Given the description of an element on the screen output the (x, y) to click on. 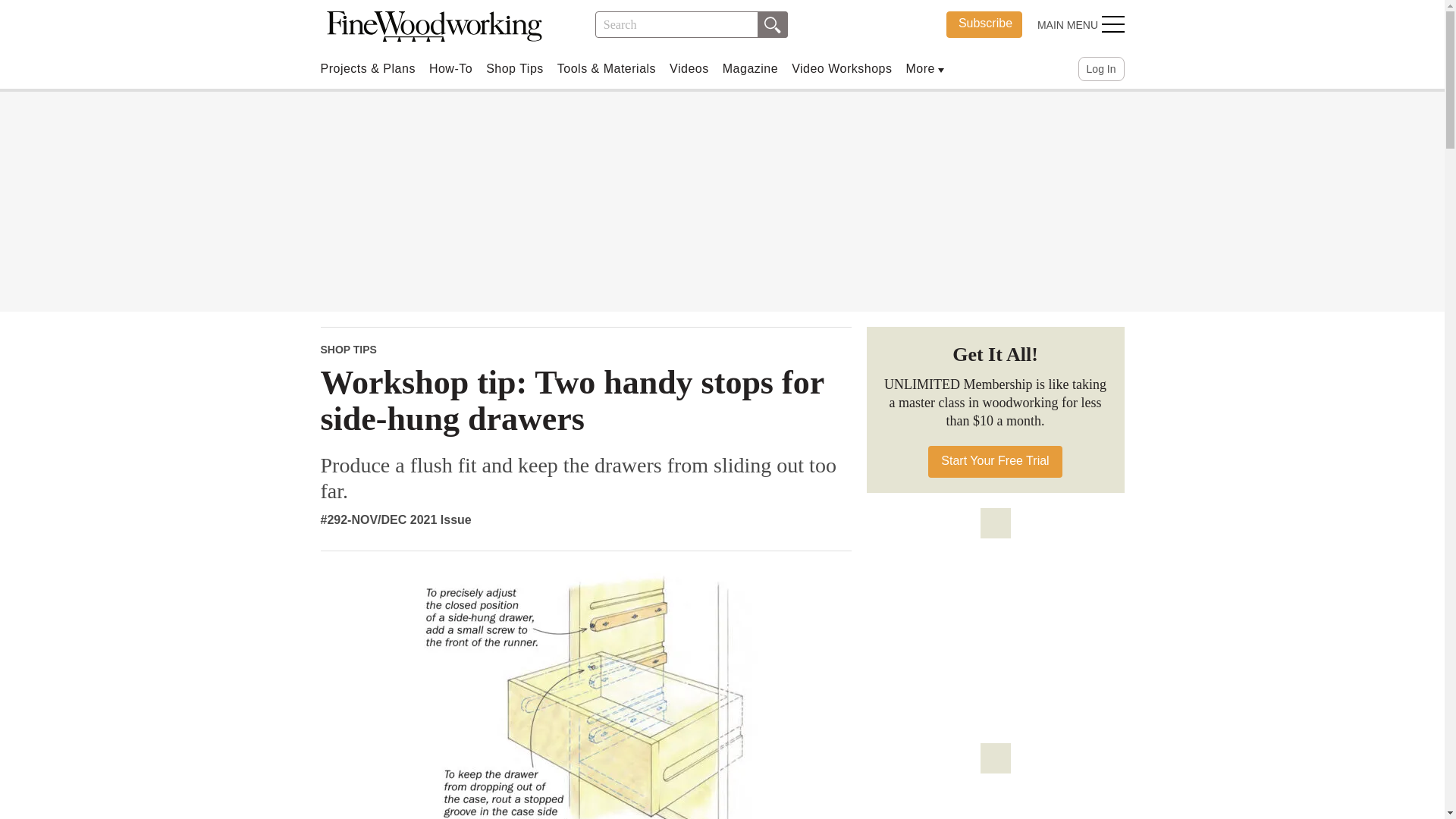
More (919, 68)
MAGNIFYING GLASS ICON (772, 24)
Start Your Free Trial (433, 26)
How-To (994, 461)
Magazine (450, 68)
Subscribe (749, 68)
Fine Woodworking Logo (984, 24)
Shop Tips (772, 24)
Video Workshops (433, 26)
Videos (514, 68)
Log In (841, 68)
